Given the description of an element on the screen output the (x, y) to click on. 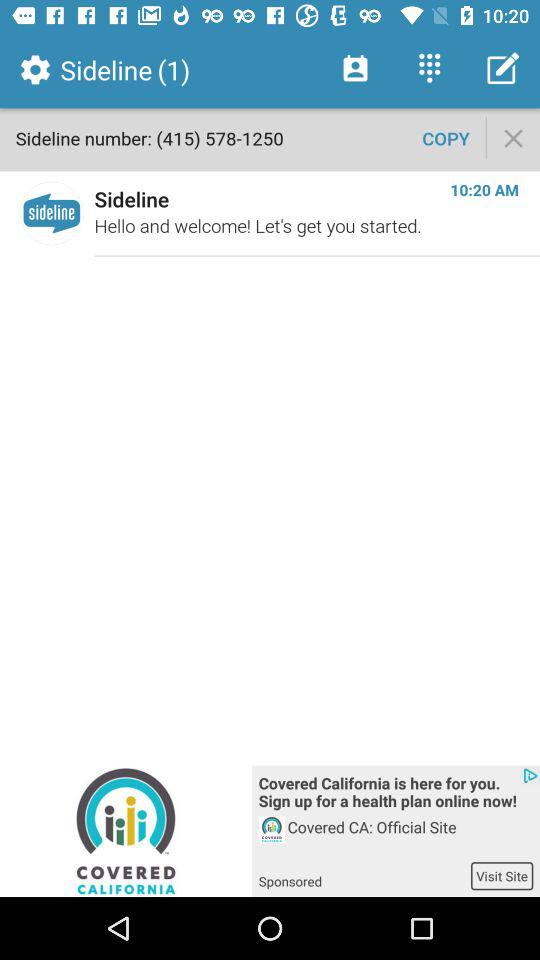
turn off the item next to visit site app (364, 875)
